Given the description of an element on the screen output the (x, y) to click on. 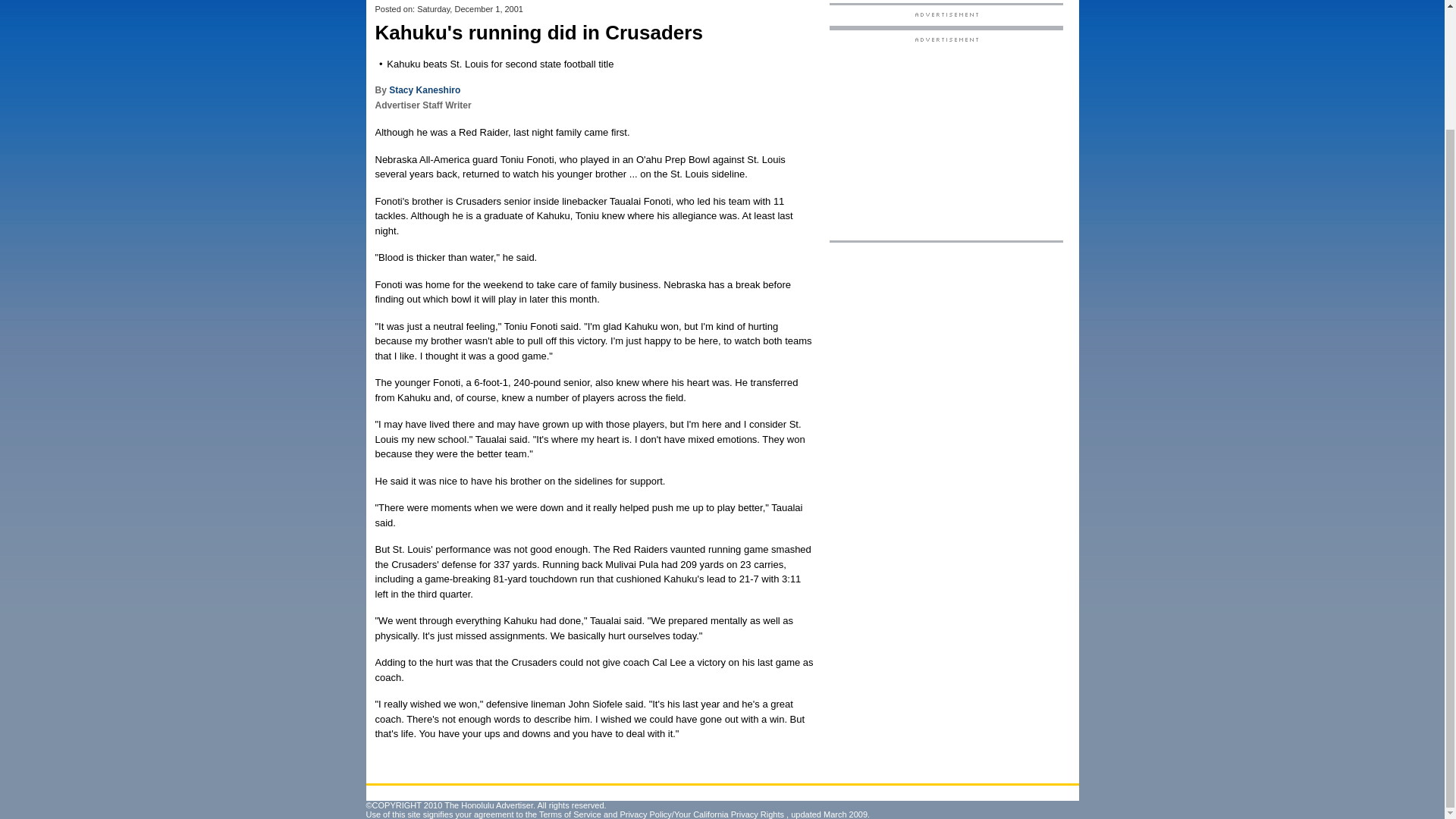
Stacy Kaneshiro (424, 90)
Advertisement (945, 137)
Kahuku beats St. Louis for second state football title (499, 63)
